Given the description of an element on the screen output the (x, y) to click on. 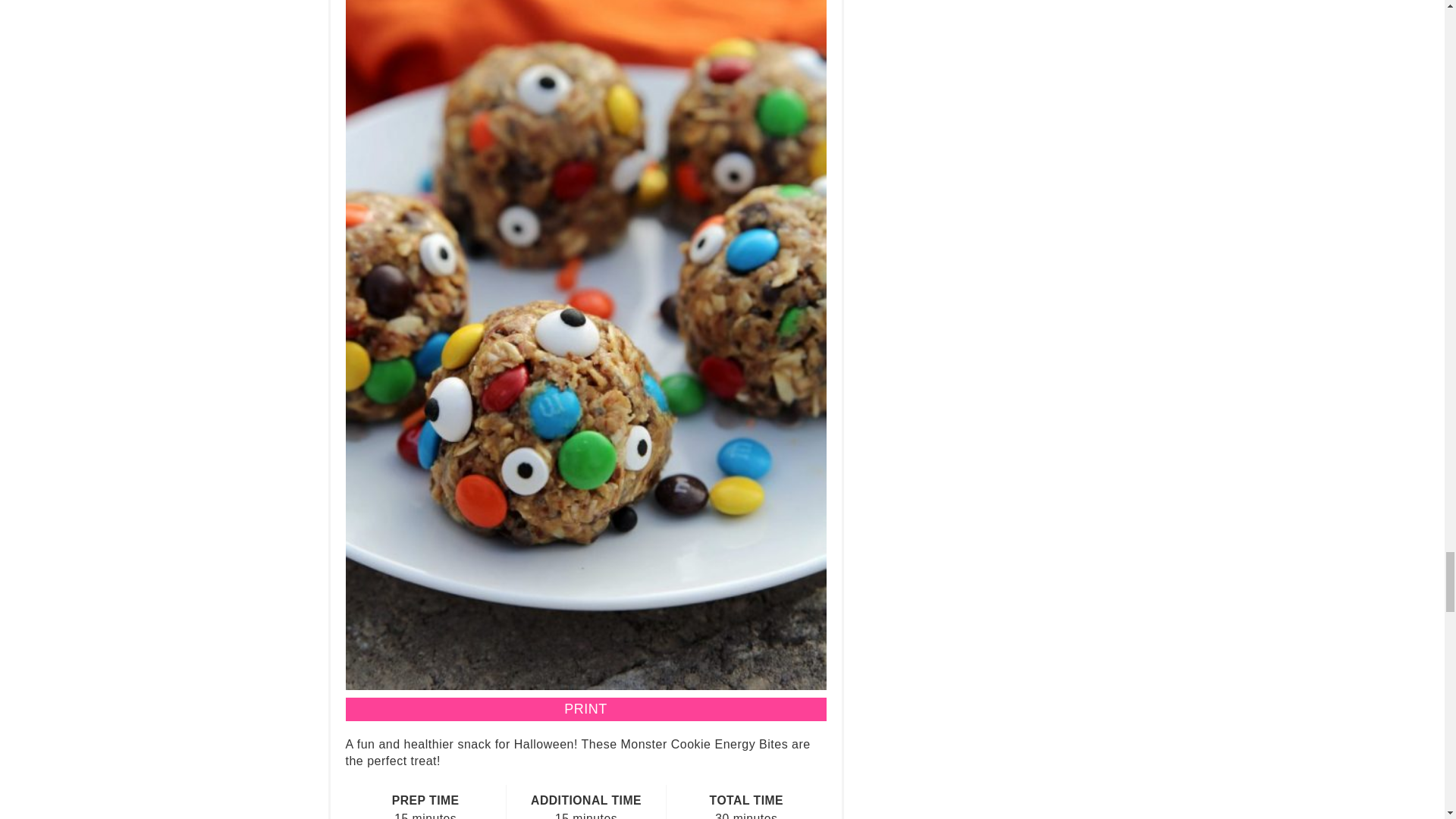
PRINT (586, 709)
